Given the description of an element on the screen output the (x, y) to click on. 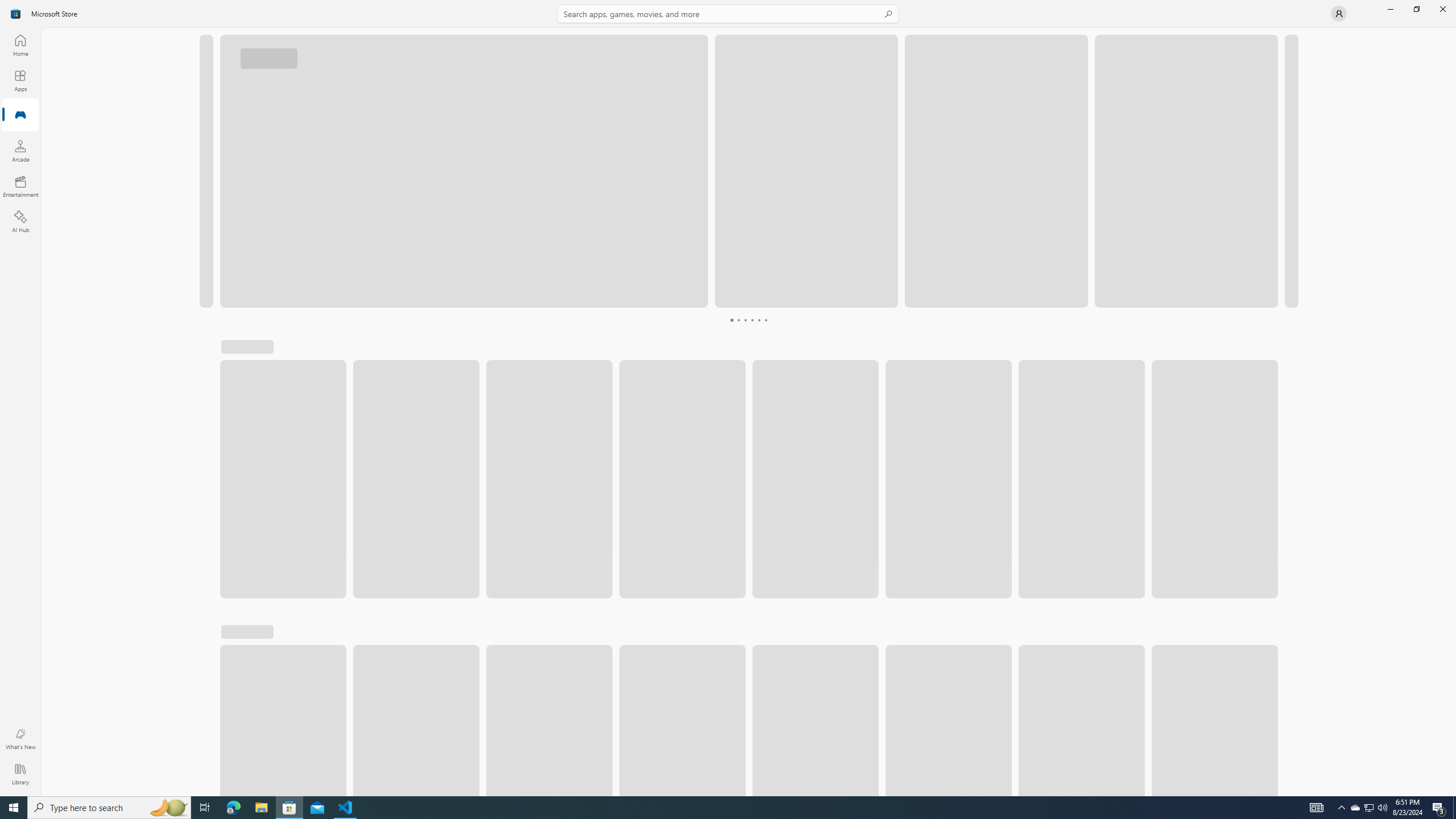
Puzzle (807, 352)
Available with Game Pass. VALORANT (322, 739)
User profile (1338, 13)
Fighting (1078, 352)
See all  Best of Game Pass (493, 668)
Class: Button (1266, 351)
Entertainment (20, 185)
Role-playing (668, 352)
Page 1 (717, 319)
Deals (952, 352)
AutomationID: Image (1290, 170)
gamescom. See the best of the show.  . See details (771, 221)
